Given the description of an element on the screen output the (x, y) to click on. 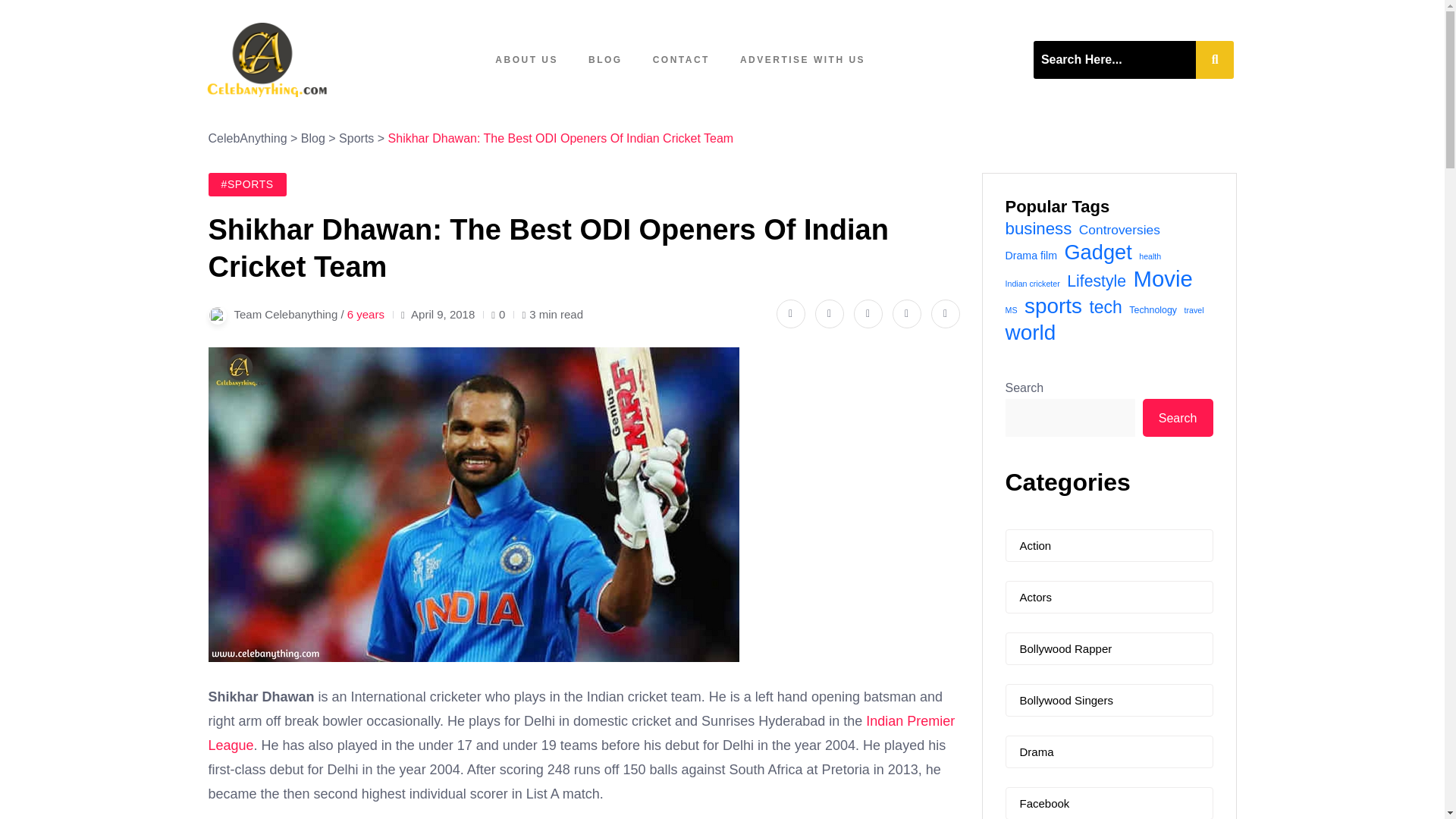
Search (1114, 59)
Go to the Sports Category archives. (356, 137)
BLOG (605, 59)
ADVERTISE WITH US (802, 59)
Sports (356, 137)
Go to Blog. (312, 137)
Blog (312, 137)
ABOUT US (526, 59)
Go to CelebAnything. (247, 137)
CelebAnything (247, 137)
CONTACT (681, 59)
